Given the description of an element on the screen output the (x, y) to click on. 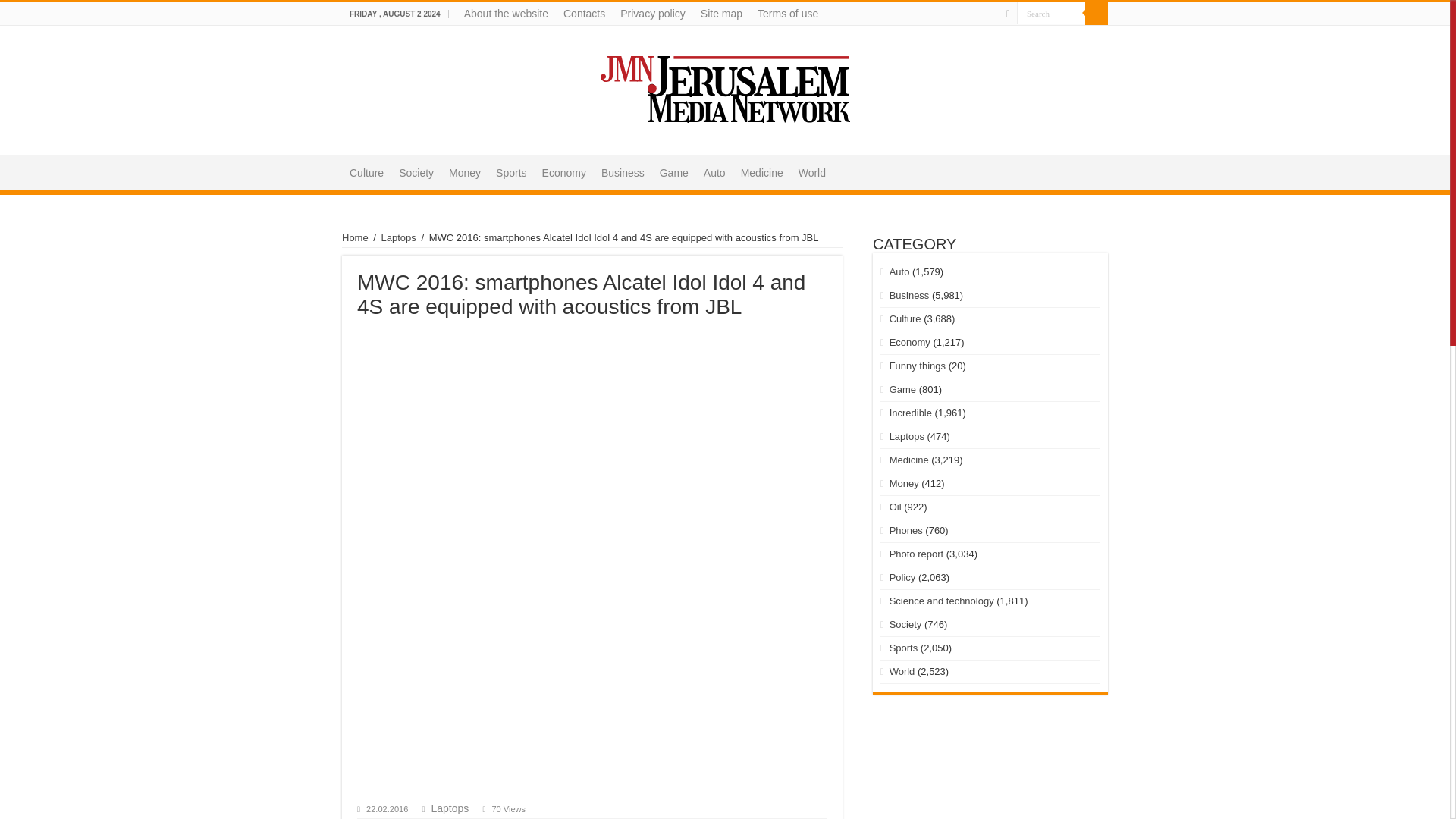
Business (623, 171)
Game (673, 171)
Auto (714, 171)
Privacy policy (652, 13)
Laptops (398, 237)
Medicine (761, 171)
Society (416, 171)
Money (464, 171)
World (811, 171)
Site map (721, 13)
Search (1096, 13)
Terms of use (787, 13)
About the website (506, 13)
Search (1050, 13)
Contacts (584, 13)
